Given the description of an element on the screen output the (x, y) to click on. 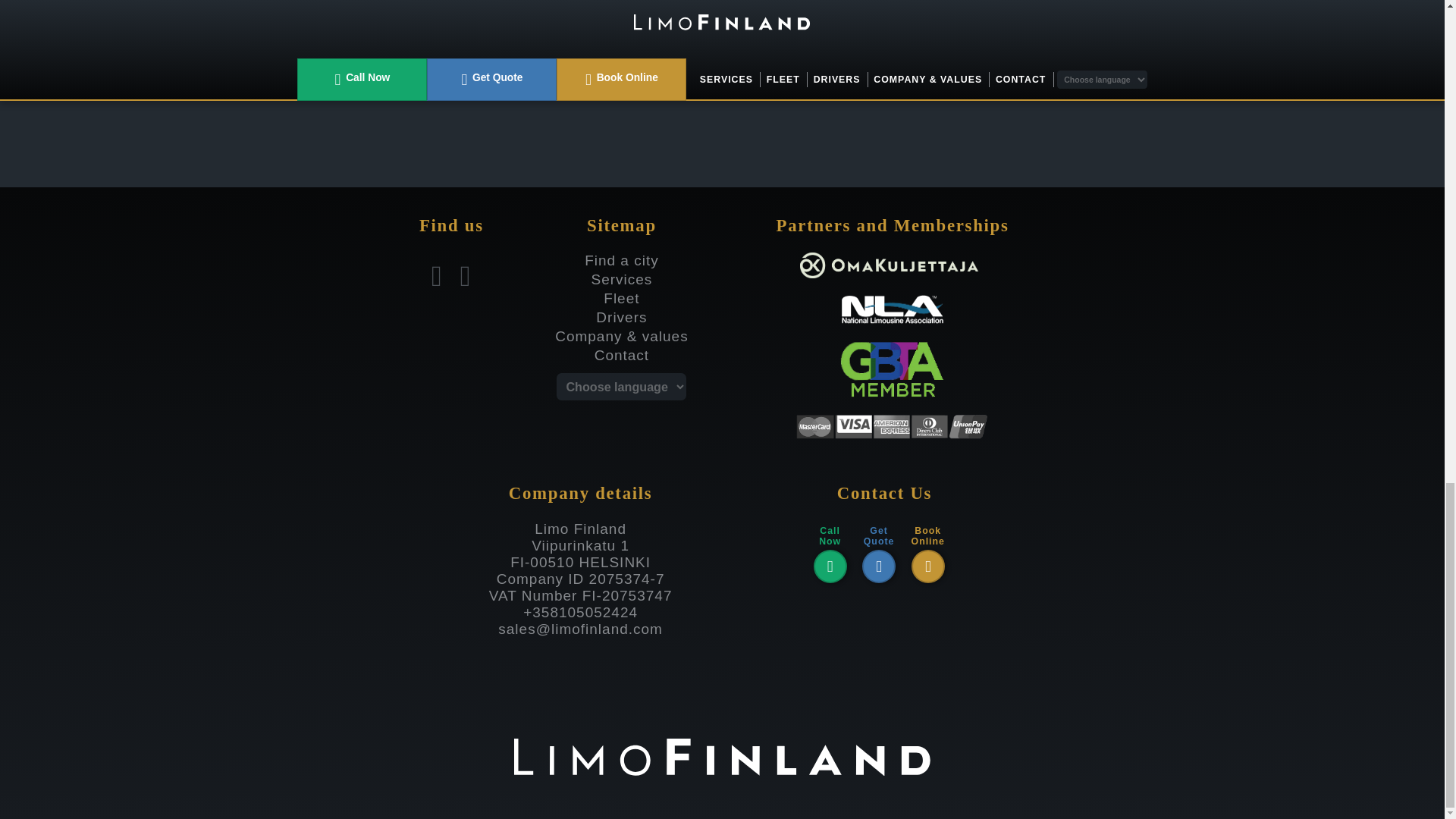
Find a city (622, 260)
Services (621, 279)
Contact (621, 355)
Fleet (621, 298)
Drivers (620, 317)
